Given the description of an element on the screen output the (x, y) to click on. 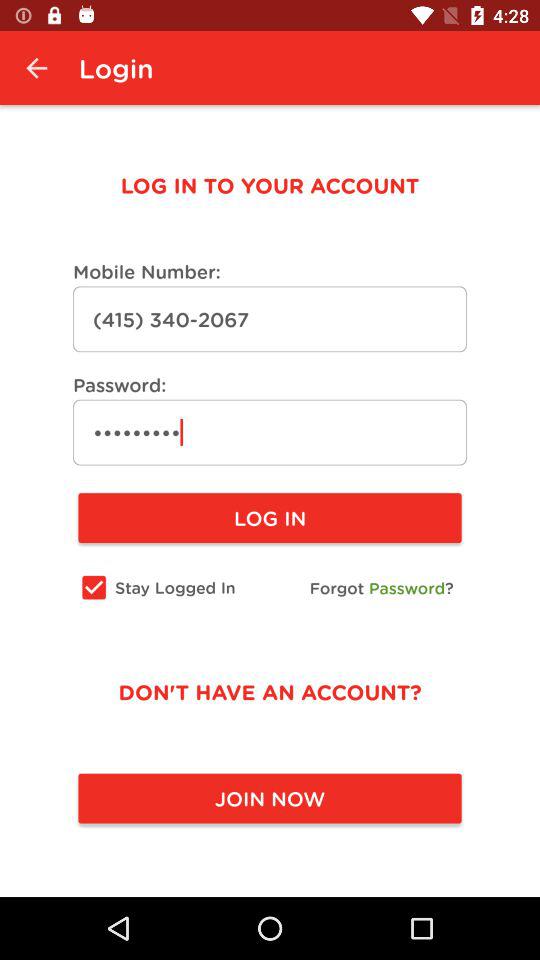
select the text field below password (269, 432)
click on the text field below mobile number (269, 319)
